Given the description of an element on the screen output the (x, y) to click on. 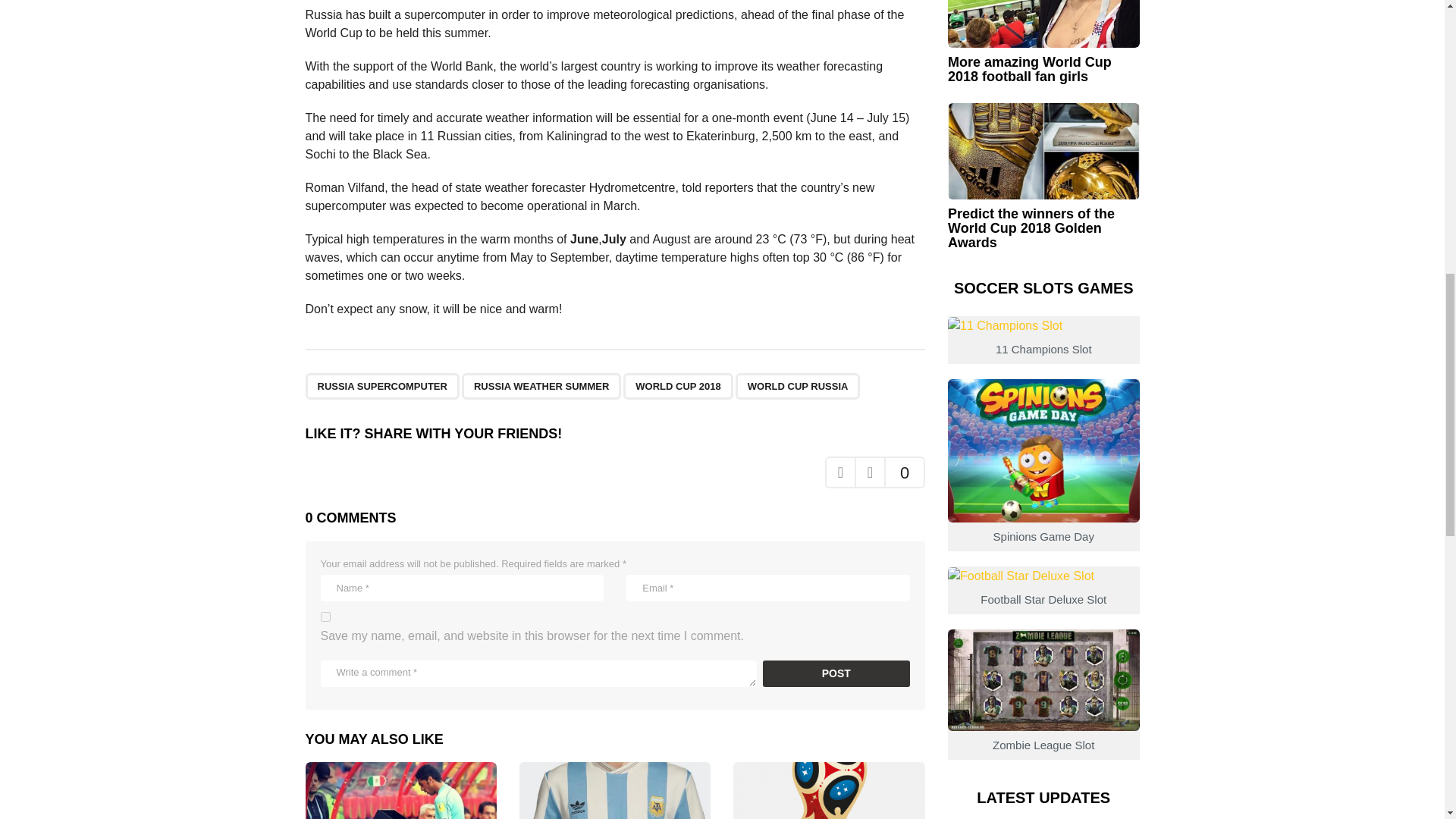
Spinions Game Day (1043, 496)
Post (836, 673)
Zombie League Slot (1043, 716)
Football Star Deluxe Slot (1043, 591)
More amazing World Cup 2018 football fan girls (1043, 23)
WORLD CUP RUSSIA (797, 386)
WORLD CUP 2018 (677, 386)
11 Champions Slot (1043, 340)
VAR will be used in the World Cup Russia 2018 (400, 790)
yes (325, 616)
World Cup 2018 Qualifiers (828, 790)
RUSSIA WEATHER SUMMER (541, 386)
Predict the winners of the World Cup 2018 Golden Awards (1043, 151)
Post (836, 673)
RUSSIA SUPERCOMPUTER (381, 386)
